Given the description of an element on the screen output the (x, y) to click on. 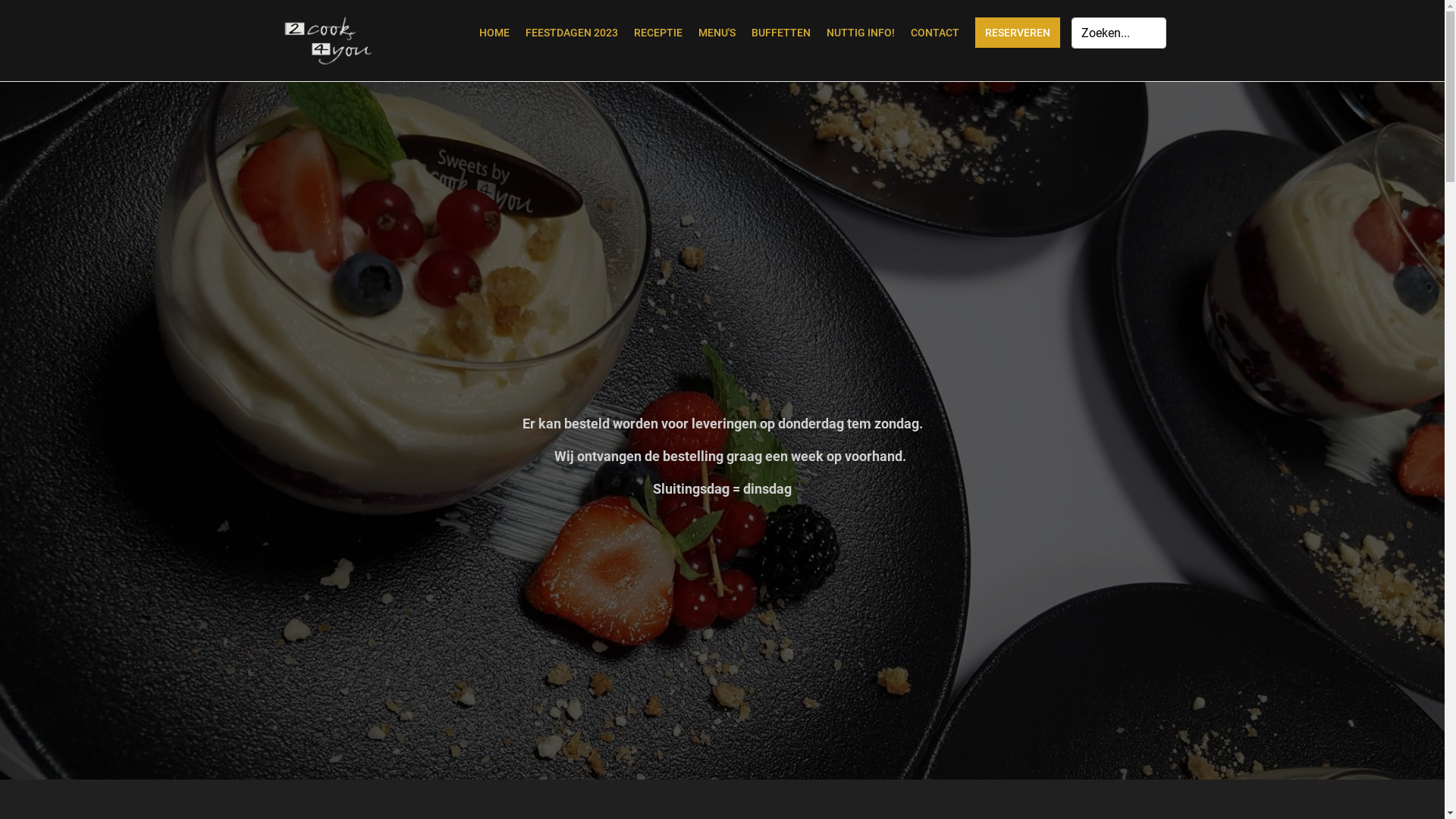
FEESTDAGEN 2023 Element type: text (570, 32)
NUTTIG INFO! Element type: text (860, 32)
RECEPTIE Element type: text (657, 32)
RESERVEREN Element type: text (1017, 32)
HOME Element type: text (494, 32)
BUFFETTEN Element type: text (779, 32)
CONTACT Element type: text (934, 32)
MENU'S Element type: text (715, 32)
